Given the description of an element on the screen output the (x, y) to click on. 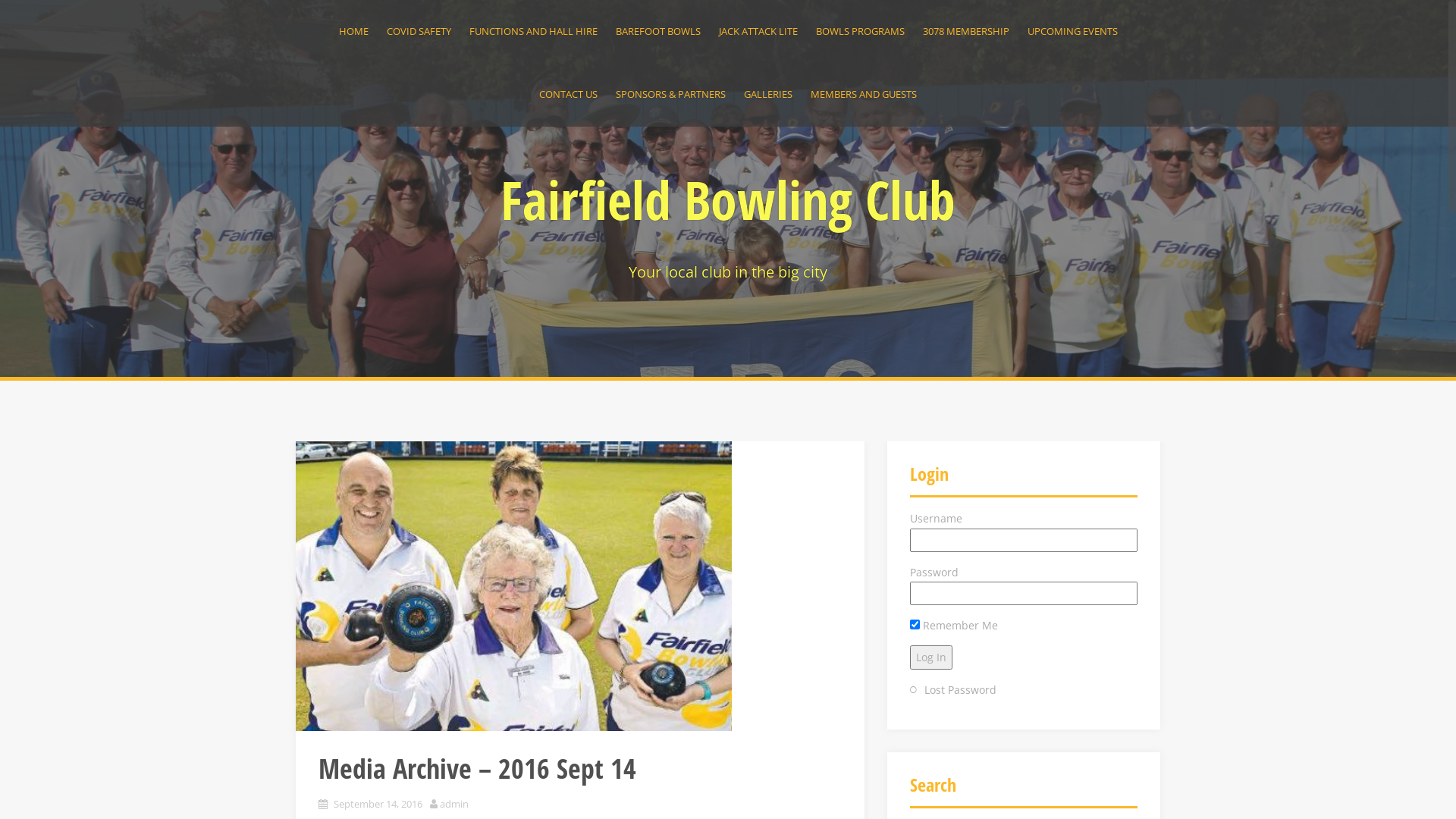
FUNCTIONS AND HALL HIRE Element type: text (532, 31)
SPONSORS & PARTNERS Element type: text (670, 94)
Fairfield Bowling Club Element type: text (727, 199)
GALLERIES Element type: text (767, 94)
admin Element type: text (453, 803)
BOWLS PROGRAMS Element type: text (859, 31)
BAREFOOT BOWLS Element type: text (657, 31)
Lost Password Element type: text (960, 689)
JACK ATTACK LITE Element type: text (757, 31)
UPCOMING EVENTS Element type: text (1071, 31)
3078 MEMBERSHIP Element type: text (965, 31)
Log In Element type: text (931, 656)
September 14, 2016 Element type: text (377, 803)
CONTACT US Element type: text (568, 94)
MEMBERS AND GUESTS Element type: text (863, 94)
COVID SAFETY Element type: text (418, 31)
Search Element type: text (25, 11)
HOME Element type: text (352, 31)
